Given the description of an element on the screen output the (x, y) to click on. 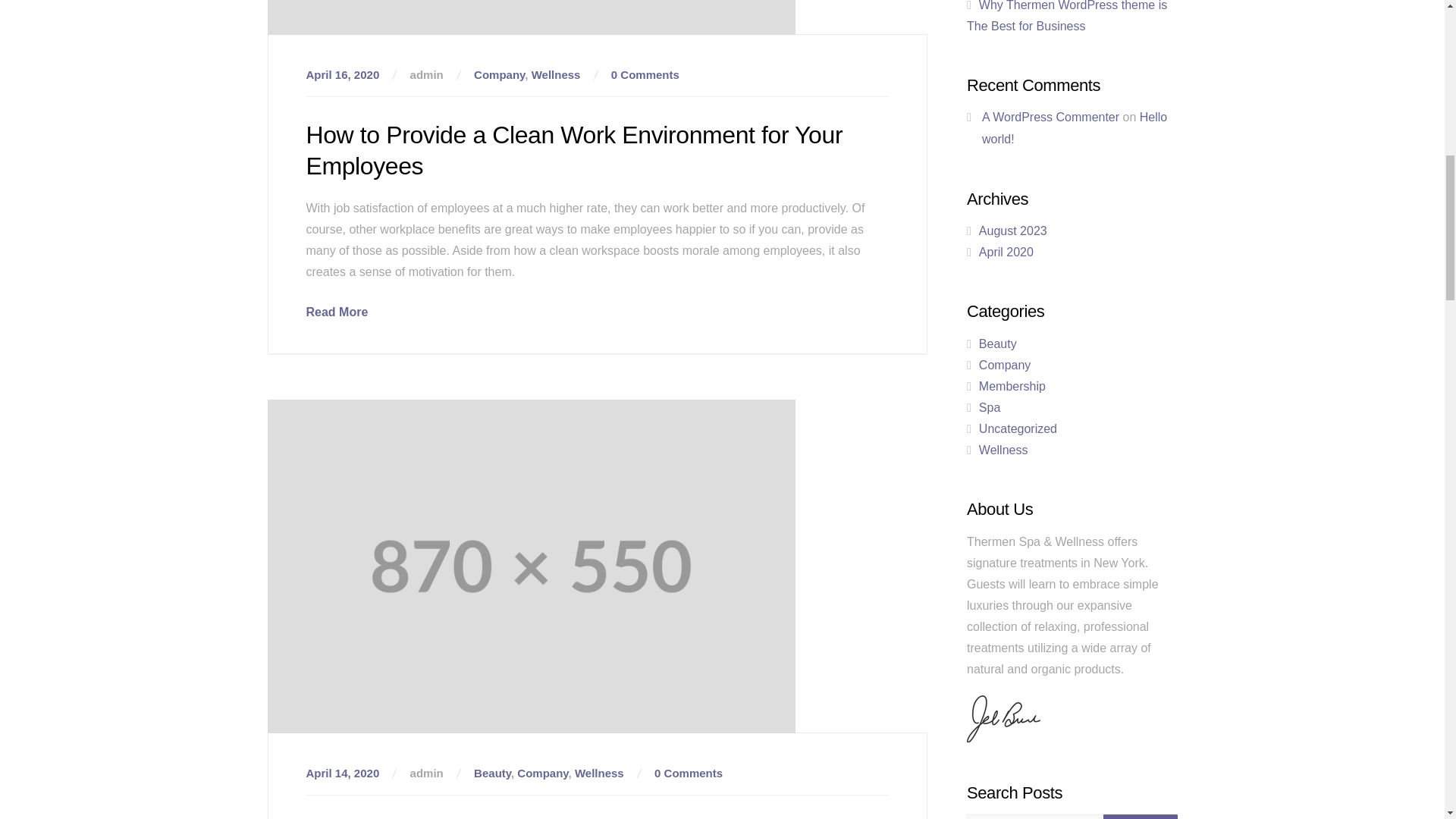
How to Provide a Clean Work Environment for Your Employees (336, 311)
Search (1139, 816)
Search (1139, 816)
